Given the description of an element on the screen output the (x, y) to click on. 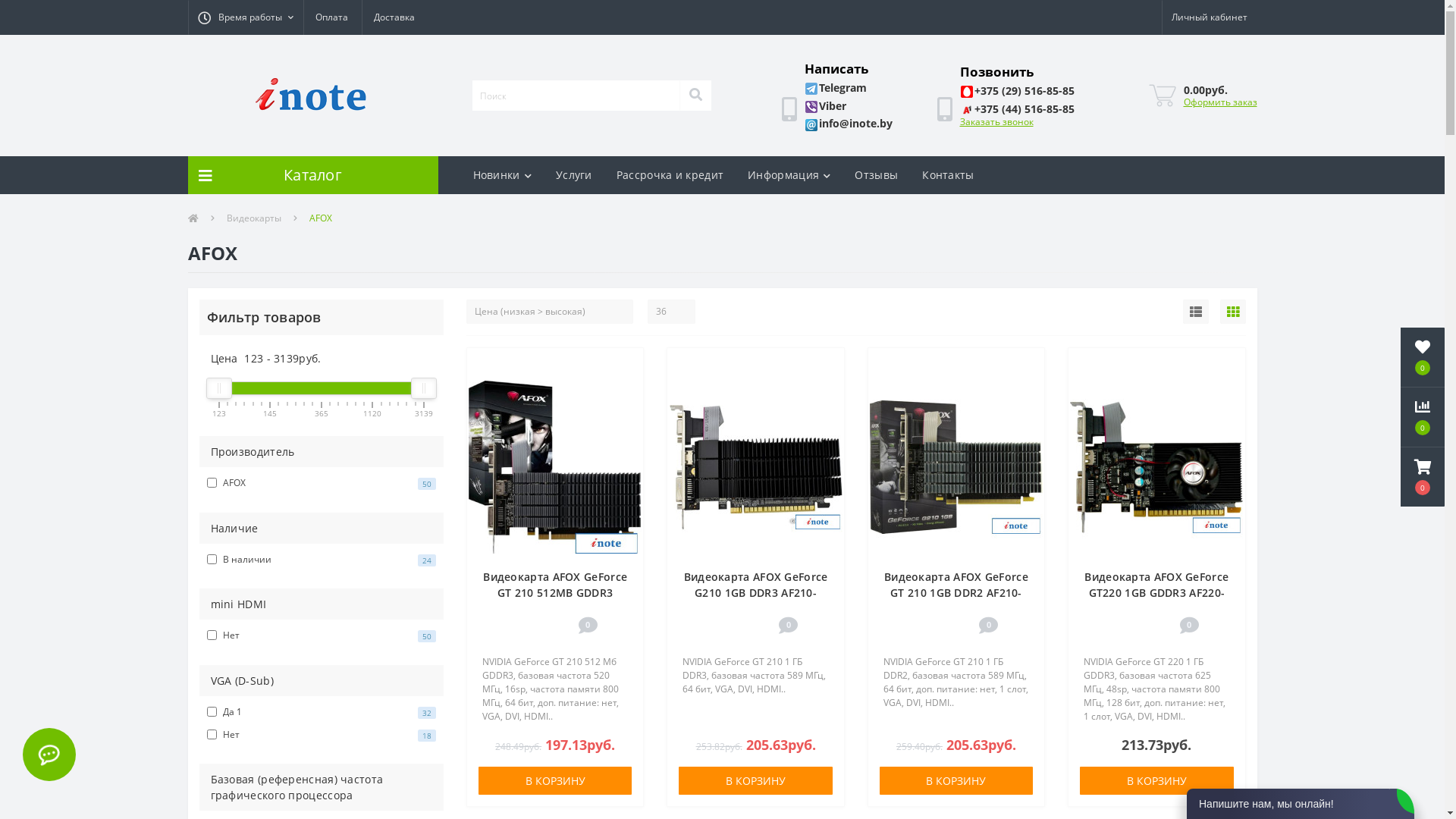
Telegram Element type: text (834, 87)
+375 (44) 516-85-85 Element type: text (1017, 108)
0 Element type: text (1422, 416)
Viber Element type: text (824, 105)
0 Element type: text (1422, 476)
info@inote.by Element type: text (847, 122)
0 Element type: text (1422, 356)
+375 (29) 516-85-85 Element type: text (1017, 90)
